Given the description of an element on the screen output the (x, y) to click on. 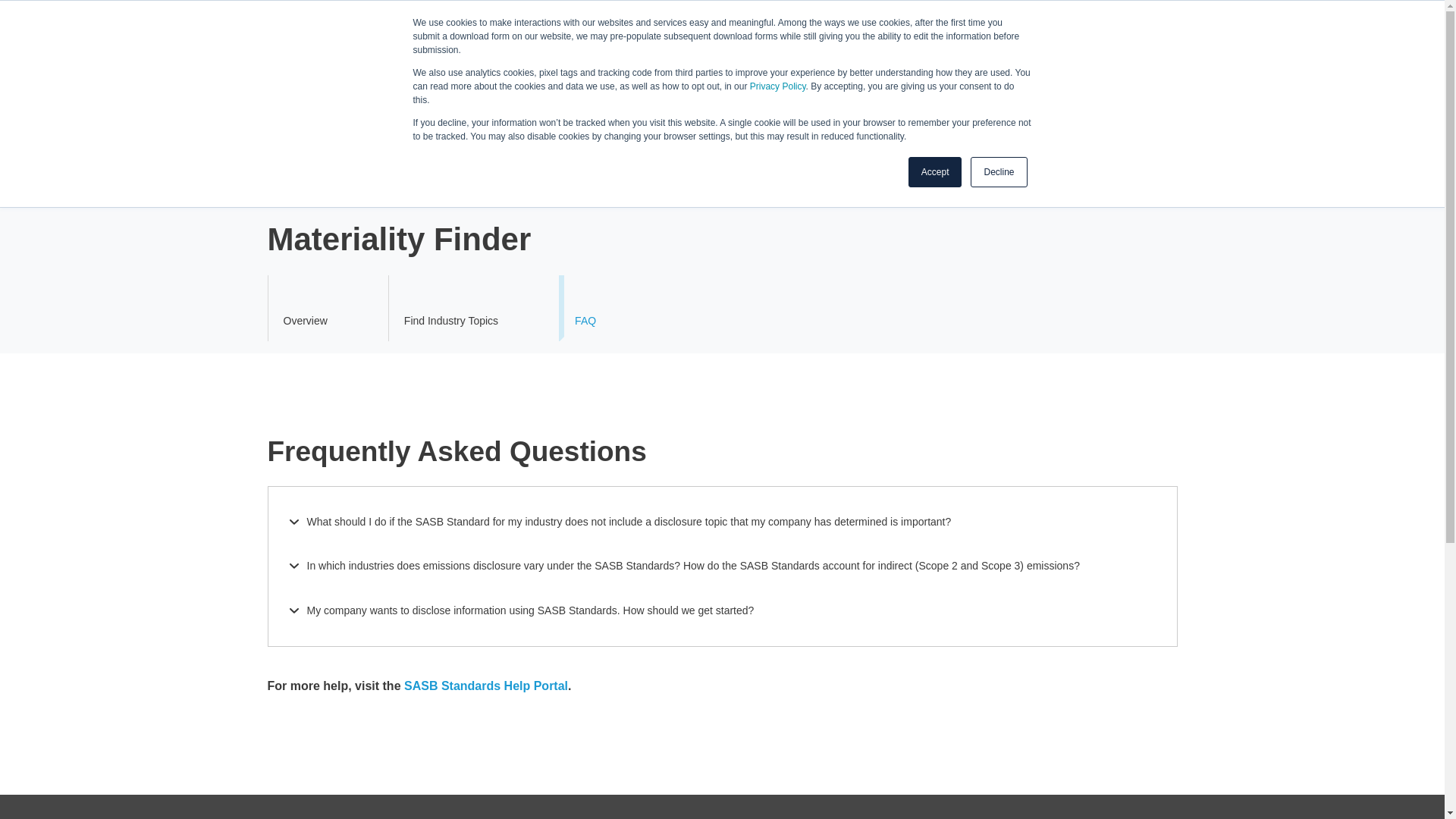
Go to the home page (340, 69)
IFRS Foundation (301, 13)
SASB Standards Help Portal (485, 685)
Download Standards (1113, 68)
Subscribe (994, 68)
Pathway to ISSB (614, 129)
SASB Standards (358, 129)
Overview (304, 308)
Membership (780, 129)
